Given the description of an element on the screen output the (x, y) to click on. 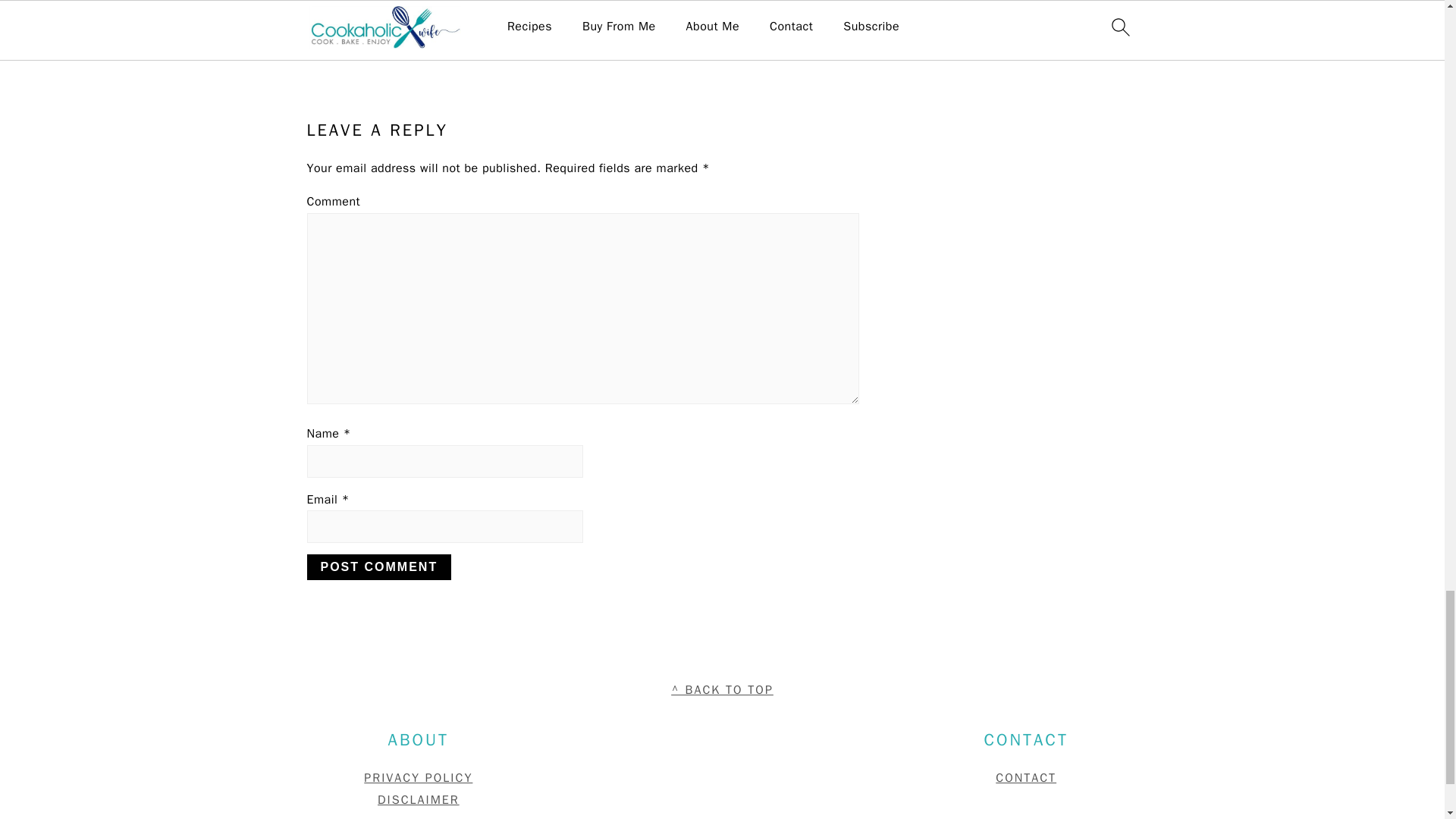
Post Comment (378, 566)
